Given the description of an element on the screen output the (x, y) to click on. 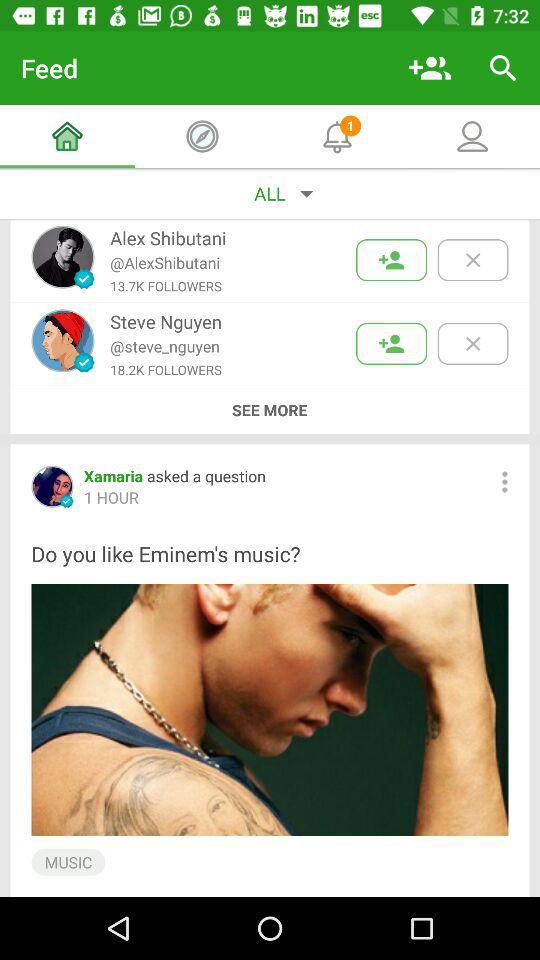
choose see more icon (269, 409)
